Given the description of an element on the screen output the (x, y) to click on. 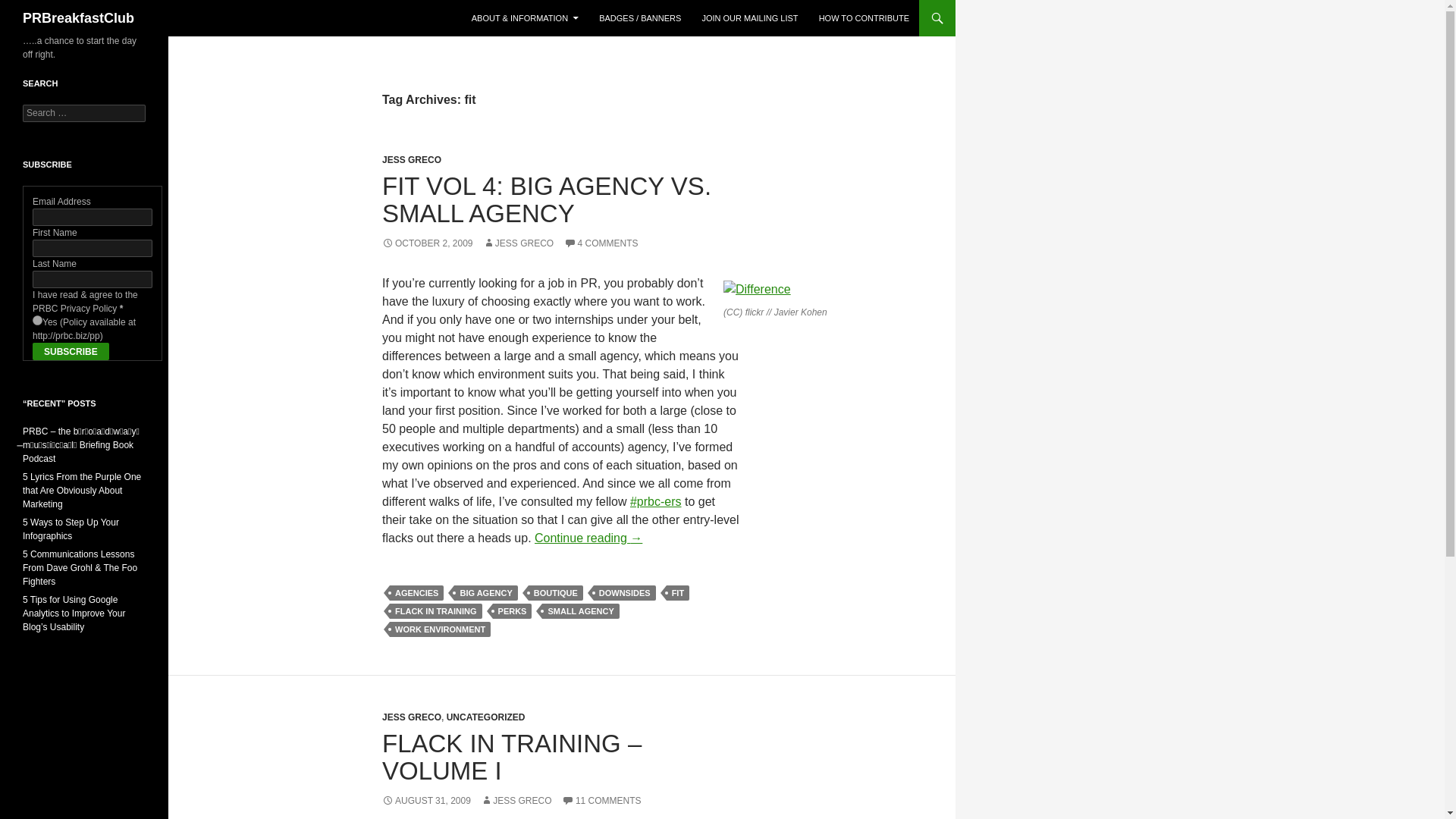
DOWNSIDES (625, 592)
JESS GRECO (515, 800)
WORK ENVIRONMENT (440, 629)
SMALL AGENCY (579, 611)
11 COMMENTS (602, 800)
JESS GRECO (518, 243)
FIT VOL 4: BIG AGENCY VS. SMALL AGENCY (546, 199)
Subscribe (70, 351)
JOIN OUR MAILING LIST (749, 18)
JESS GRECO (411, 159)
